Given the description of an element on the screen output the (x, y) to click on. 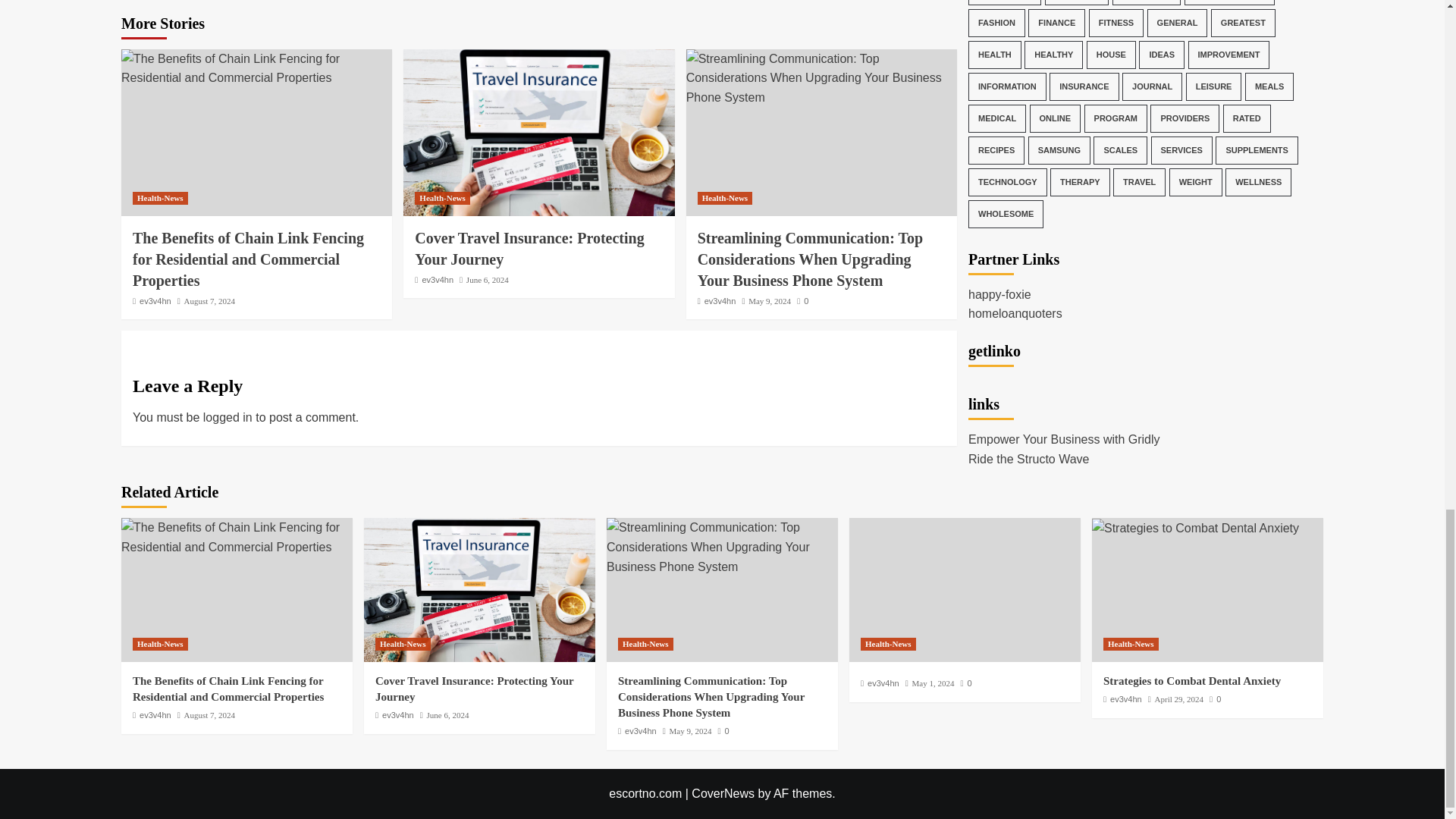
Health-News (159, 197)
Cover Travel Insurance: Protecting Your Journey (479, 589)
ev3v4hn (437, 279)
August 7, 2024 (209, 300)
Cover Travel Insurance: Protecting Your Journey (538, 132)
Health-News (442, 197)
ev3v4hn (720, 300)
ev3v4hn (155, 300)
